Given the description of an element on the screen output the (x, y) to click on. 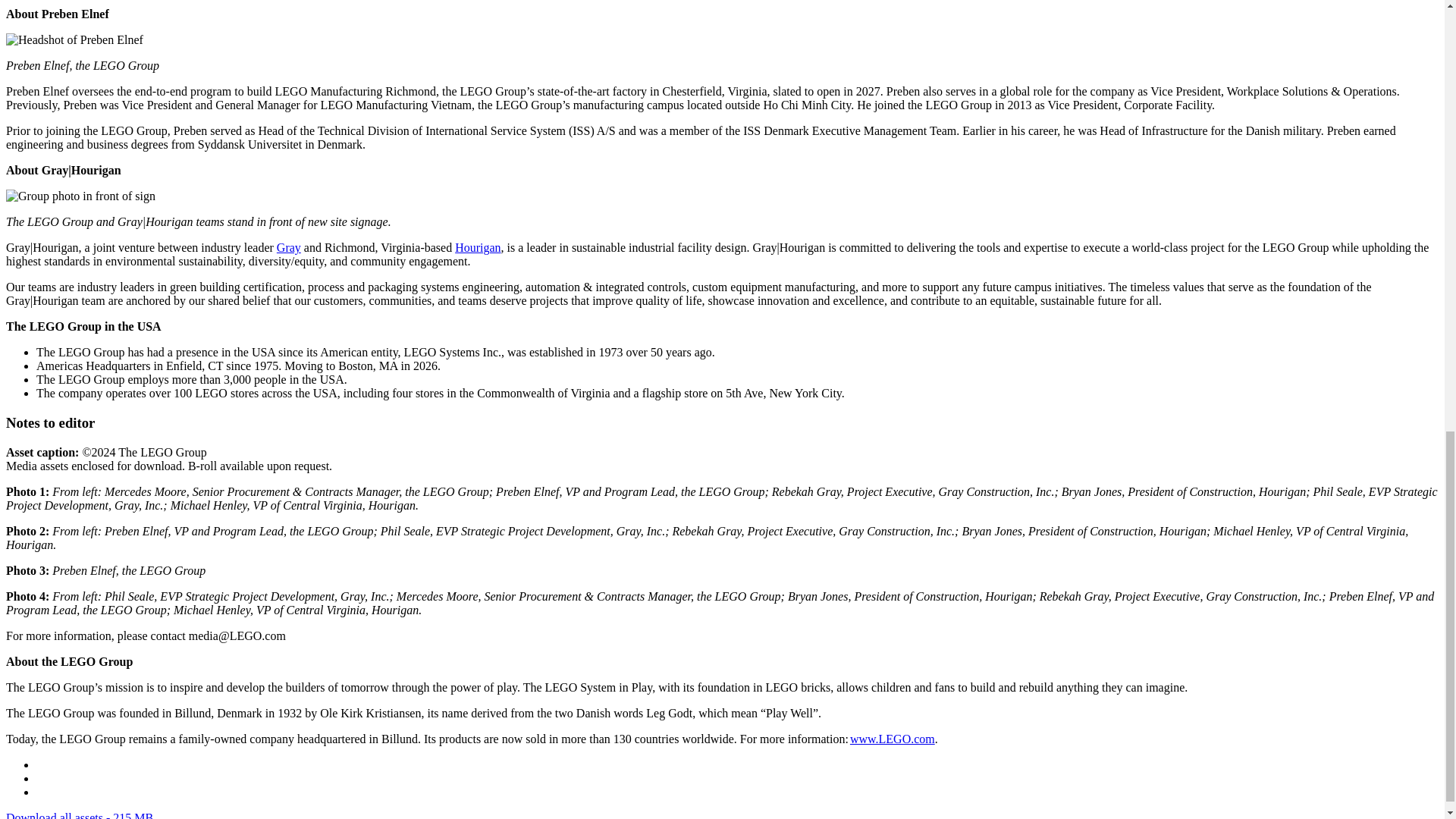
www.LEGO.com (892, 738)
Hourigan (477, 246)
Gray (288, 246)
